Given the description of an element on the screen output the (x, y) to click on. 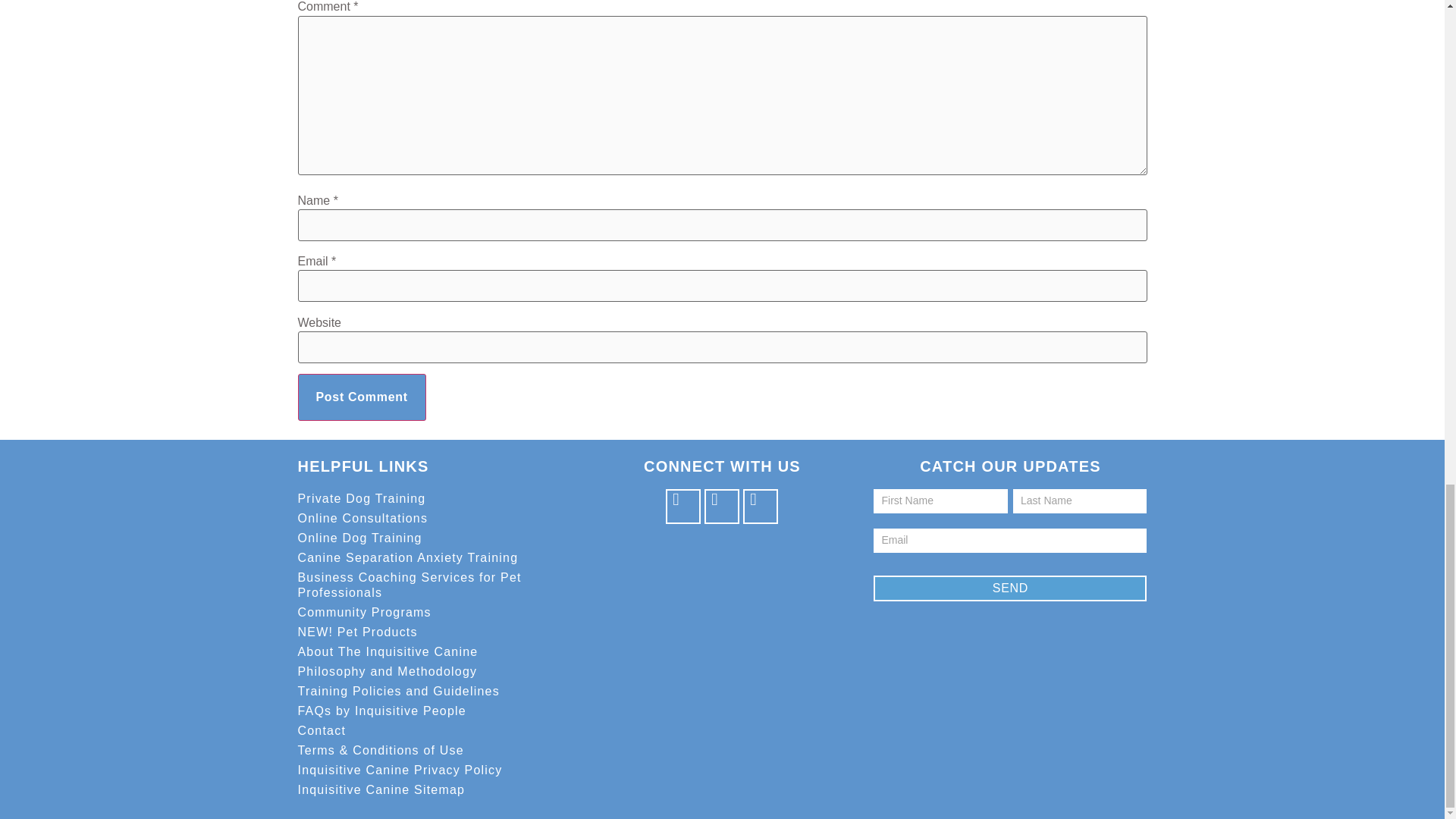
Post Comment (361, 396)
